Given the description of an element on the screen output the (x, y) to click on. 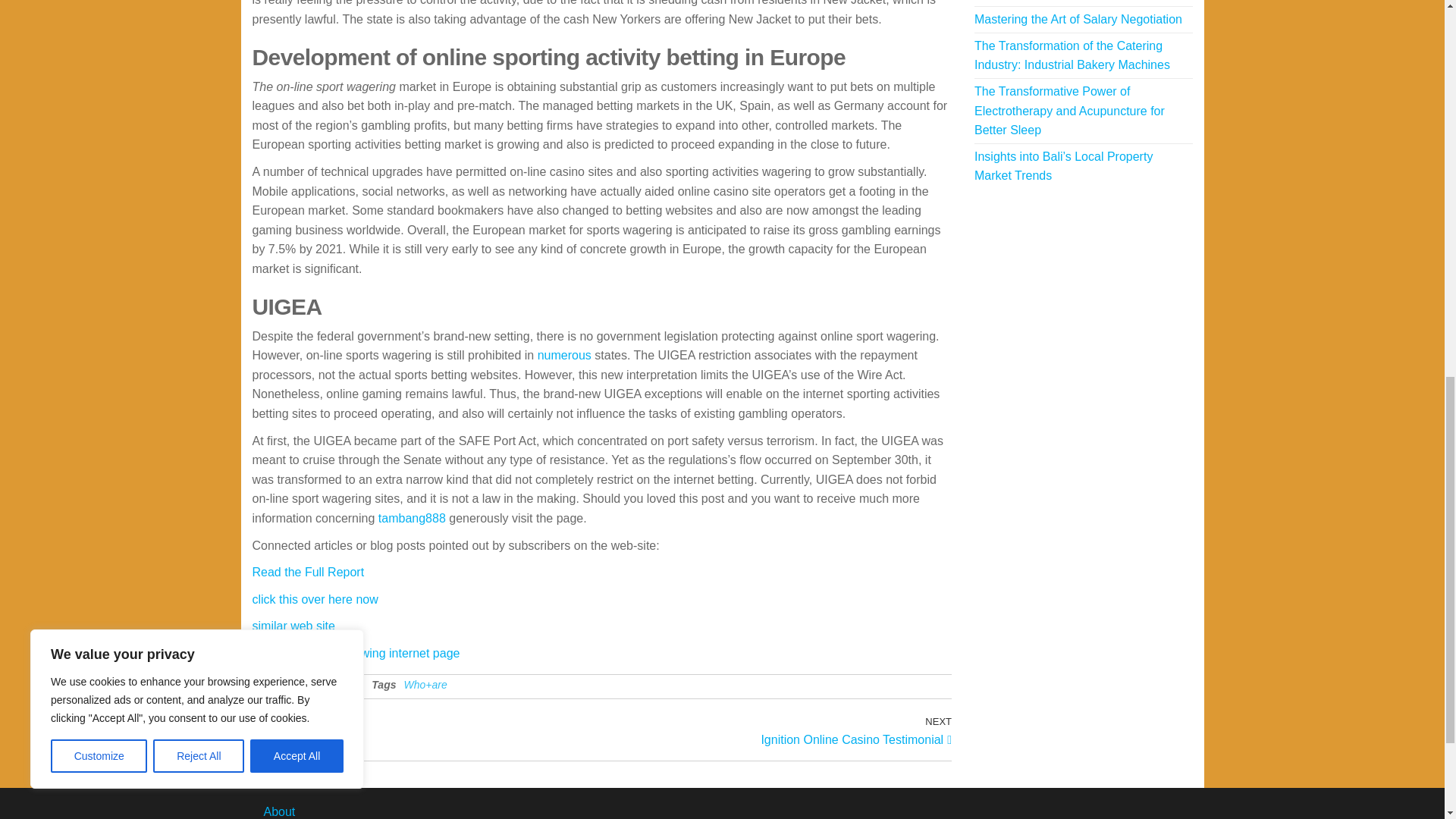
tambang888 (411, 517)
Read the Full Report (307, 571)
click this over here now (314, 599)
please click the following internet page (426, 730)
numerous (355, 653)
General (564, 354)
similar web site (777, 730)
